Given the description of an element on the screen output the (x, y) to click on. 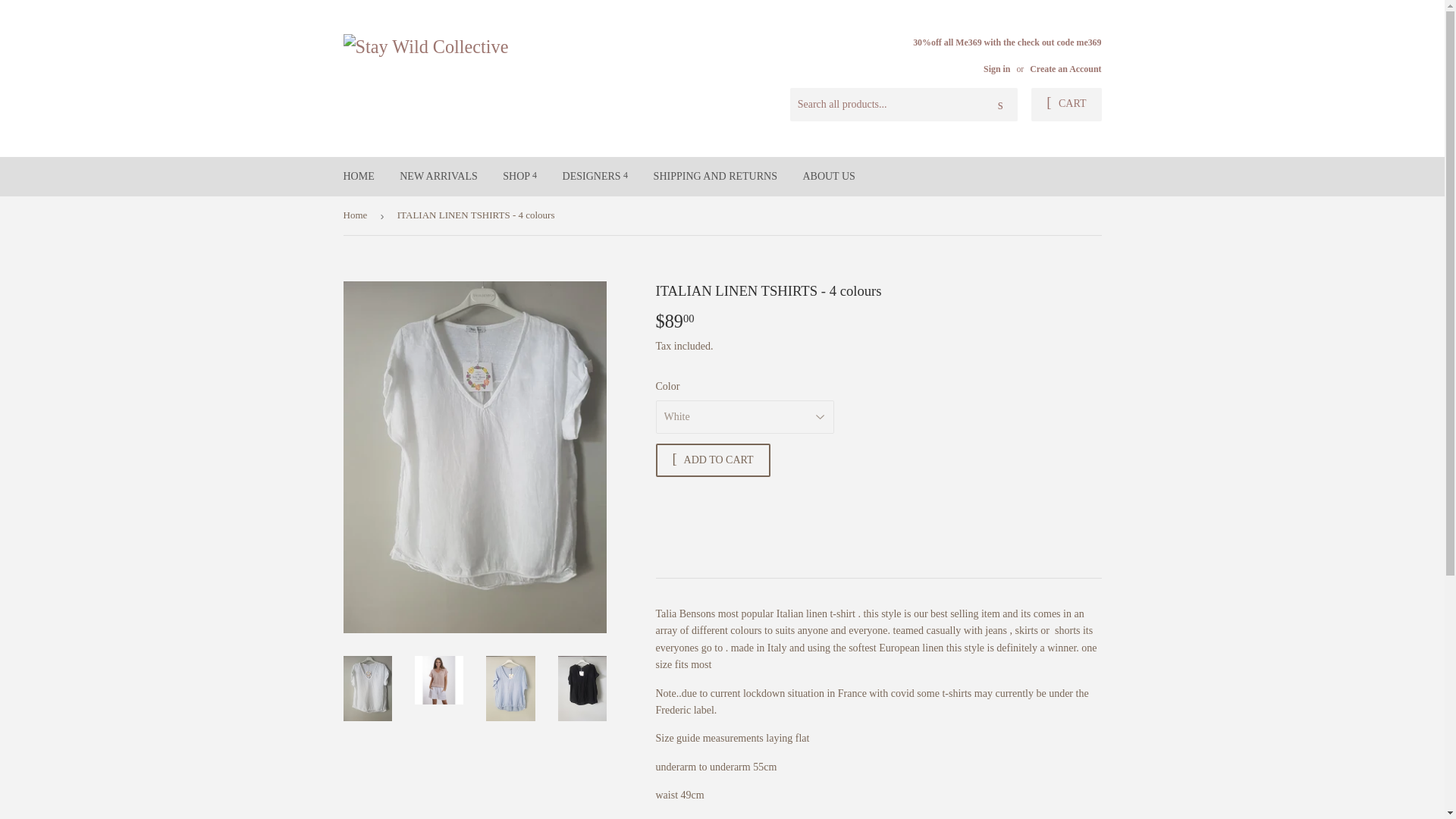
NEW ARRIVALS (438, 176)
DESIGNERS (595, 176)
Search (1000, 105)
HOME (358, 176)
Create an Account (1064, 68)
Sign in (997, 68)
CART (1065, 104)
SHOP (520, 176)
